Given the description of an element on the screen output the (x, y) to click on. 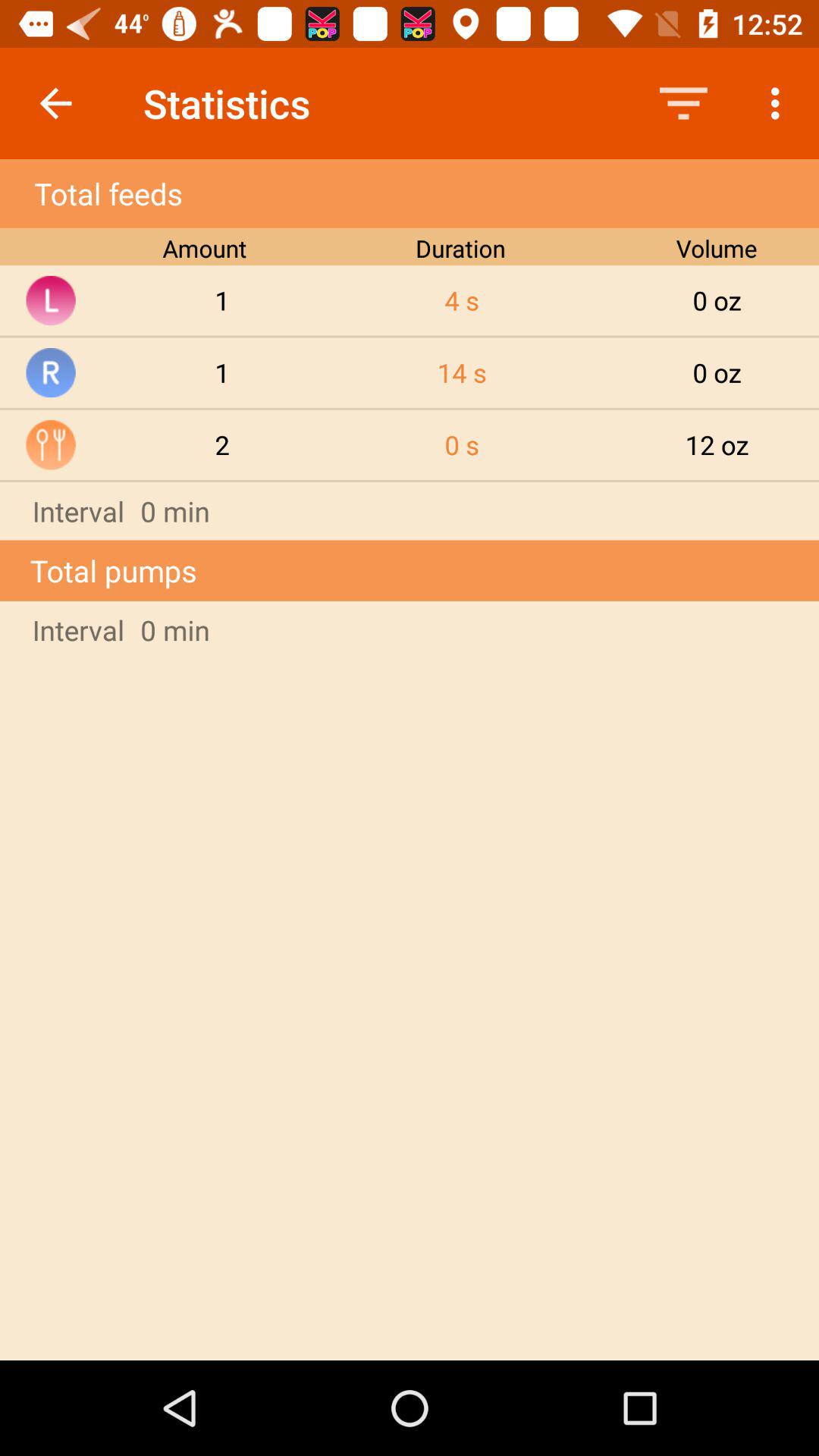
swipe to the 2 item (221, 445)
